Given the description of an element on the screen output the (x, y) to click on. 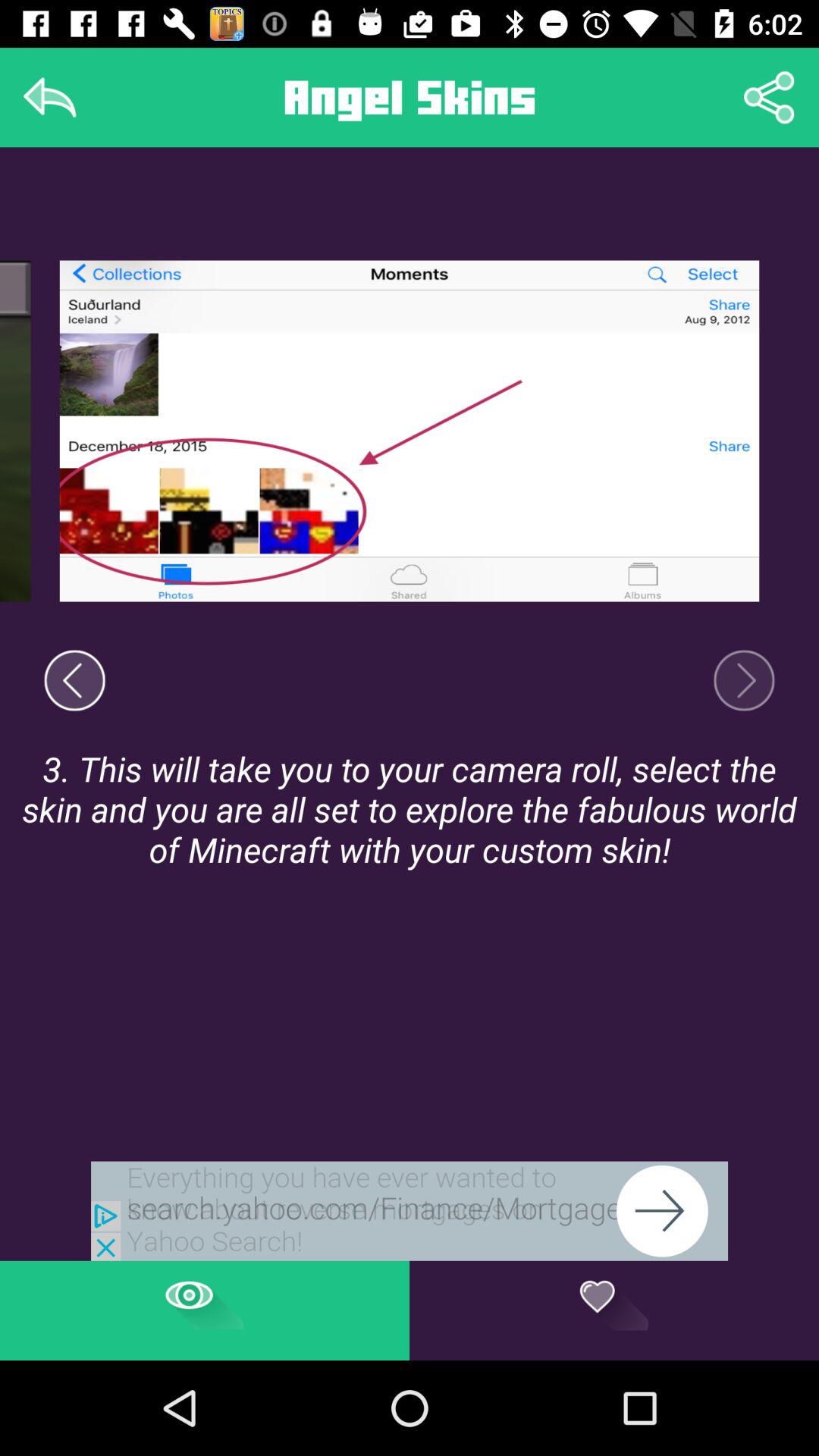
go back (74, 680)
